Given the description of an element on the screen output the (x, y) to click on. 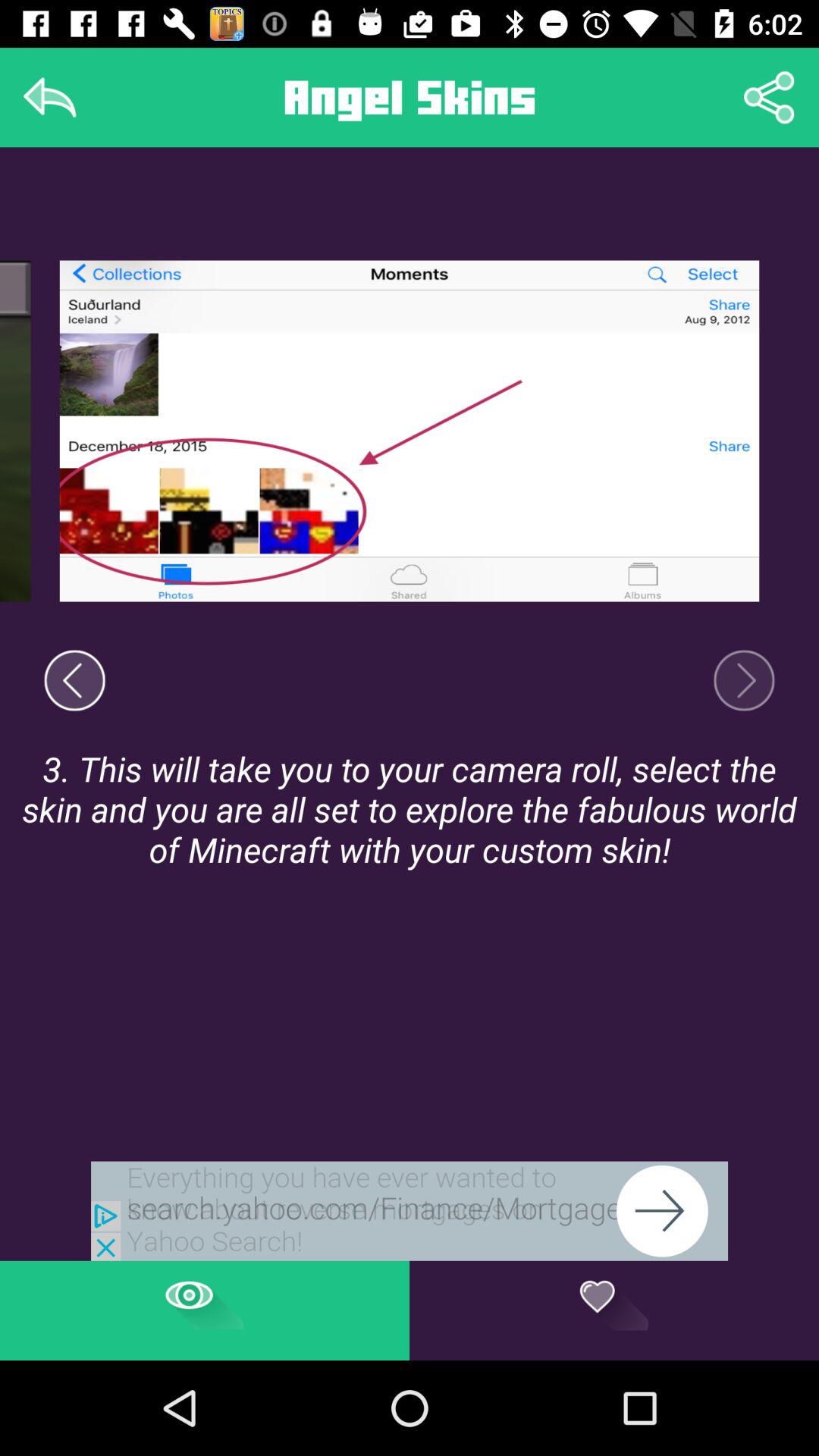
go back (74, 680)
